Given the description of an element on the screen output the (x, y) to click on. 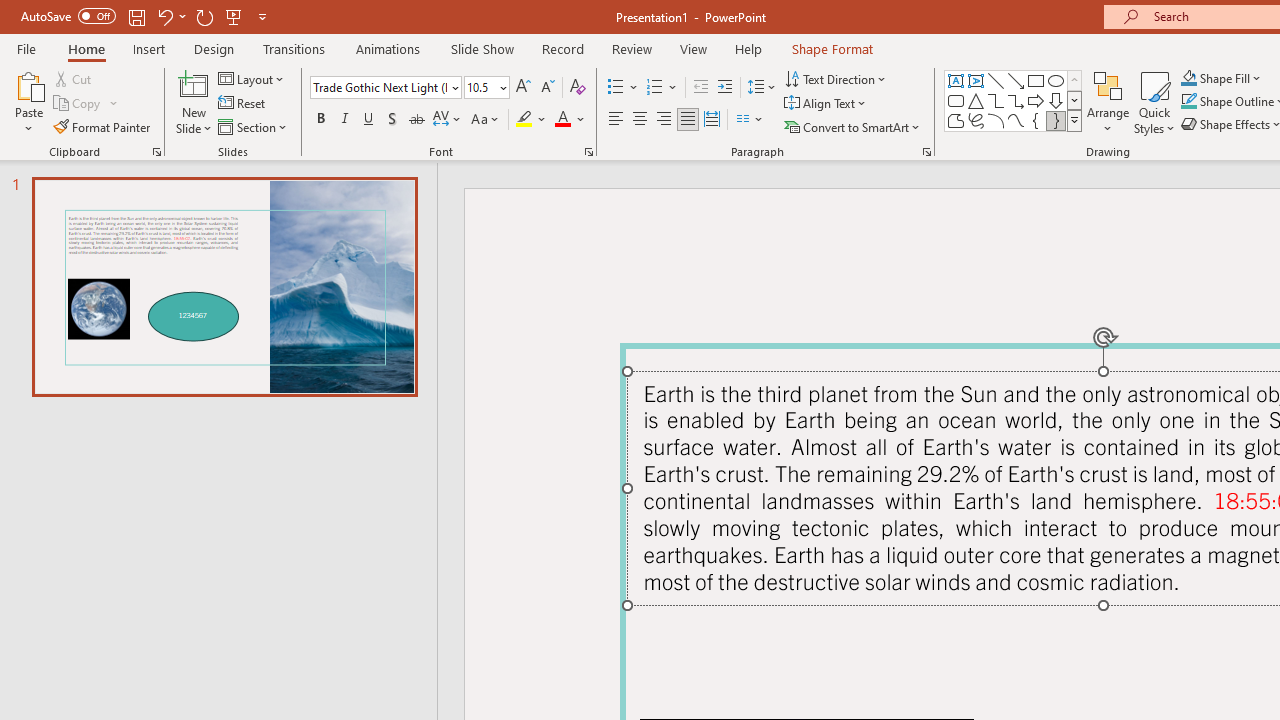
Shape Fill Aqua, Accent 2 (1188, 78)
Paragraph... (926, 151)
Shape Outline Teal, Accent 1 (1188, 101)
Convert to SmartArt (853, 126)
Rectangle (1035, 80)
Right Brace (1055, 120)
Change Case (486, 119)
Reset (243, 103)
Strikethrough (416, 119)
